Given the description of an element on the screen output the (x, y) to click on. 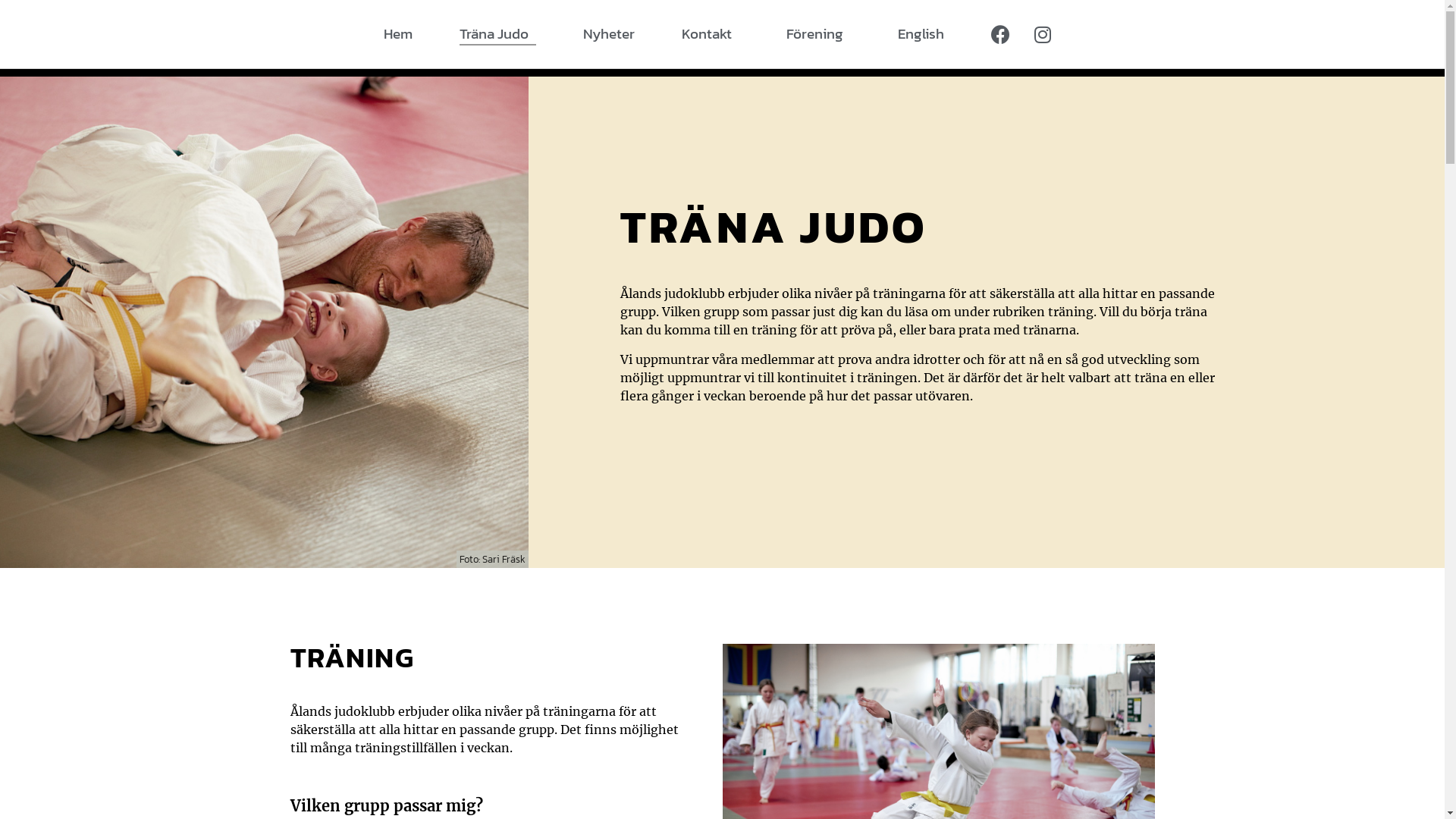
English Element type: text (920, 33)
Nyheter Element type: text (607, 33)
Kontakt Element type: text (709, 33)
Hem Element type: text (397, 33)
